Given the description of an element on the screen output the (x, y) to click on. 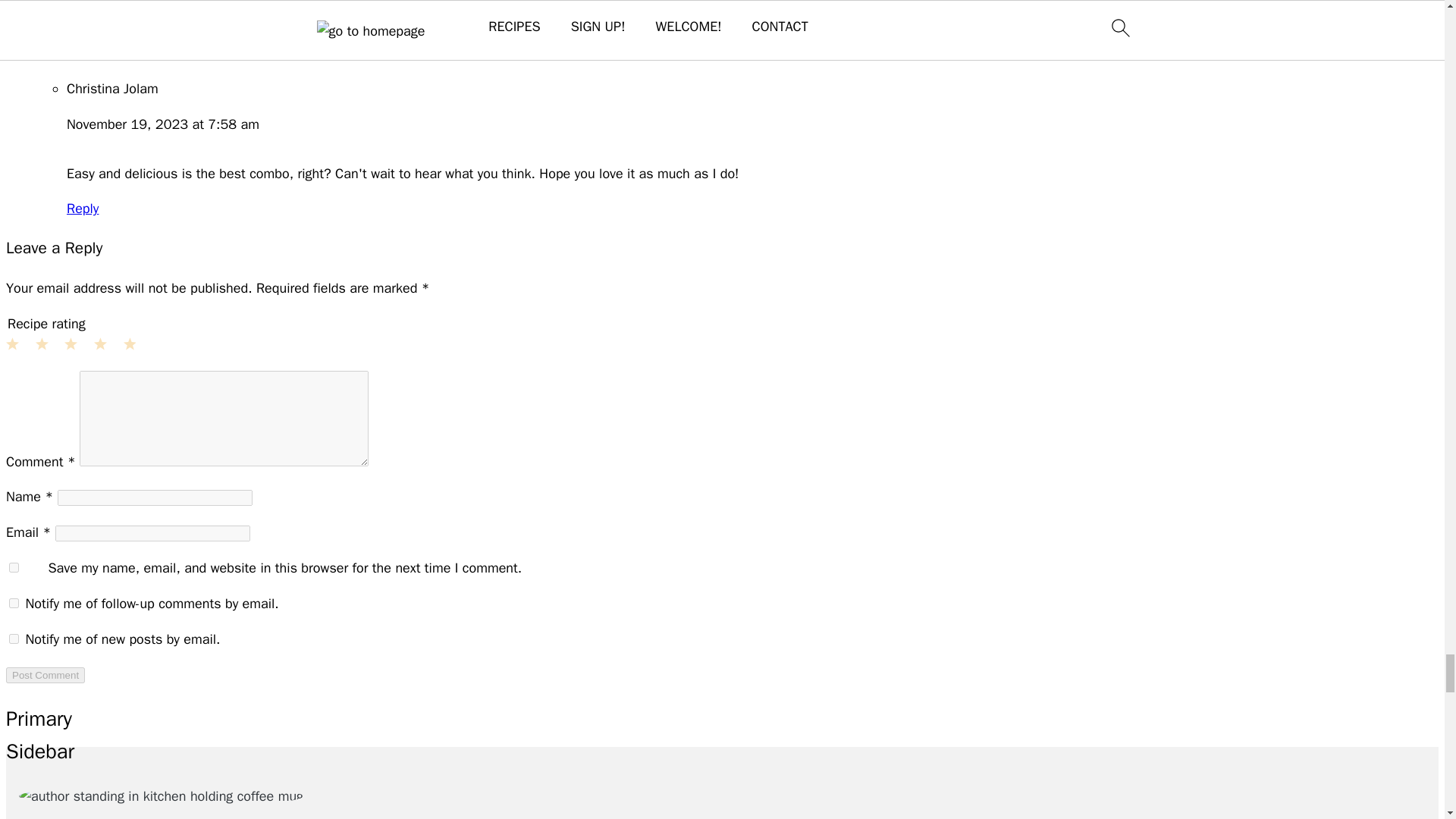
subscribe (13, 638)
Post Comment (44, 675)
subscribe (13, 603)
yes (13, 567)
